Given the description of an element on the screen output the (x, y) to click on. 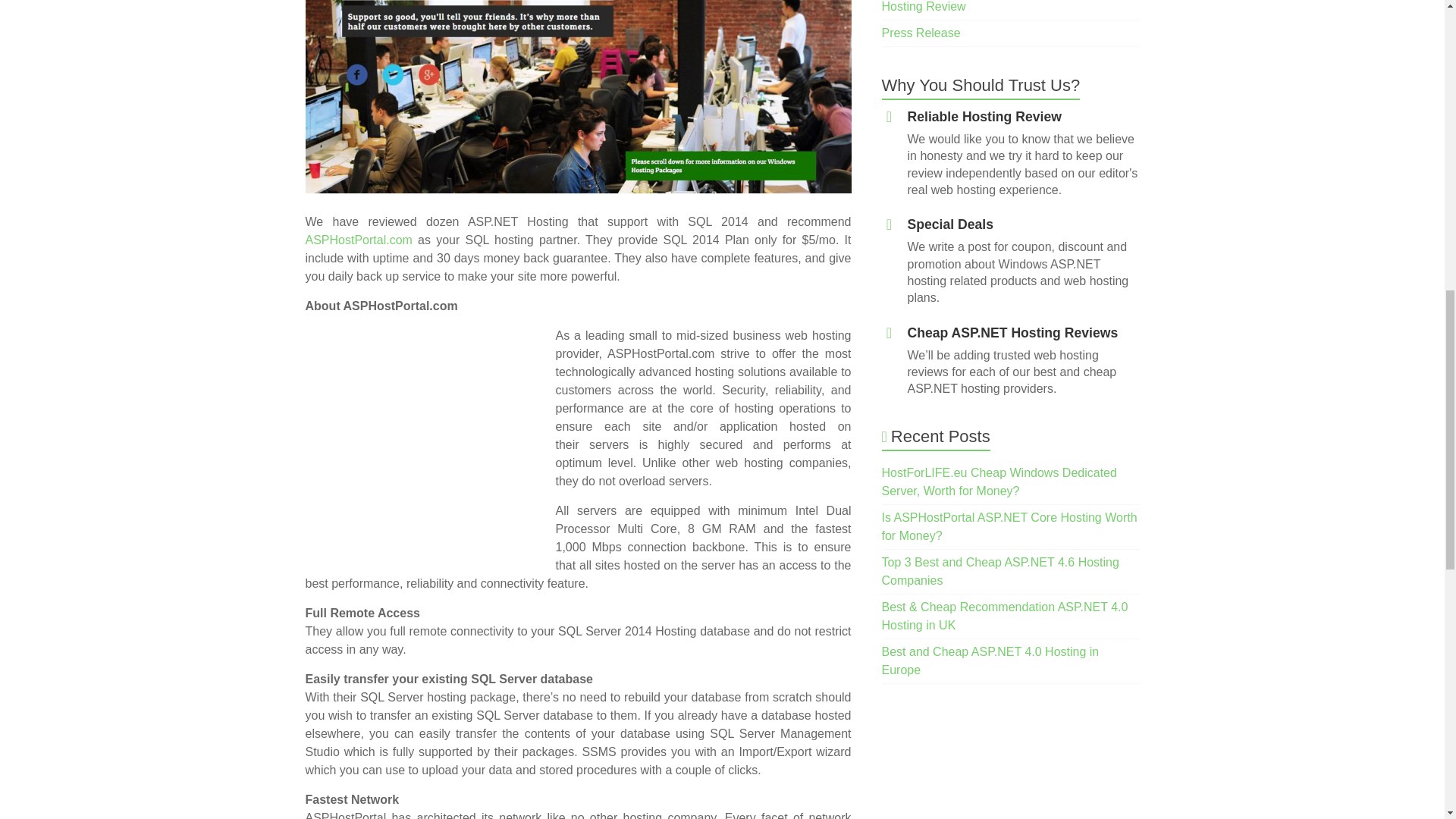
ASPHostPortal.com (358, 239)
